Given the description of an element on the screen output the (x, y) to click on. 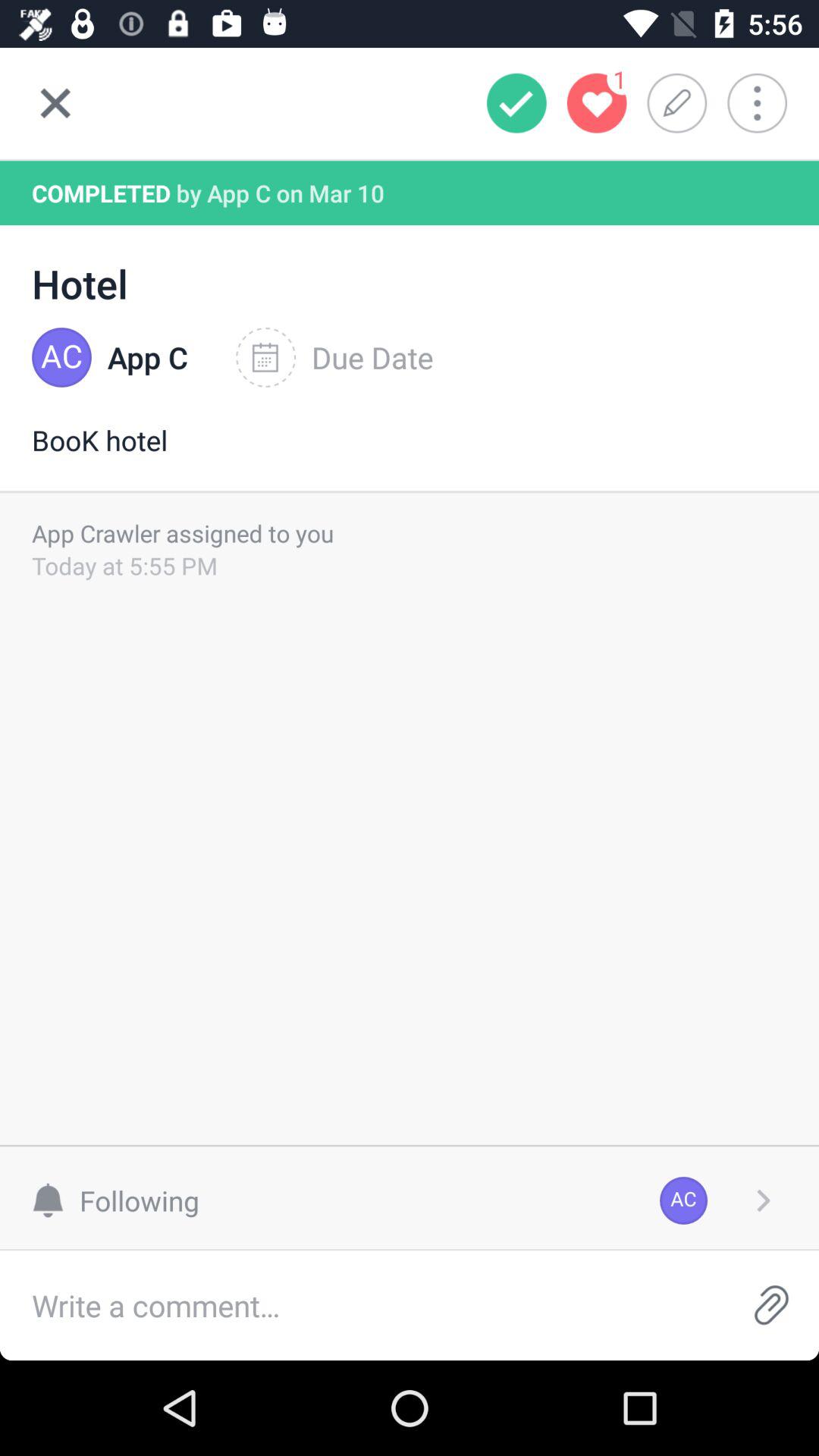
click icon to the right of the 1 (682, 103)
